Given the description of an element on the screen output the (x, y) to click on. 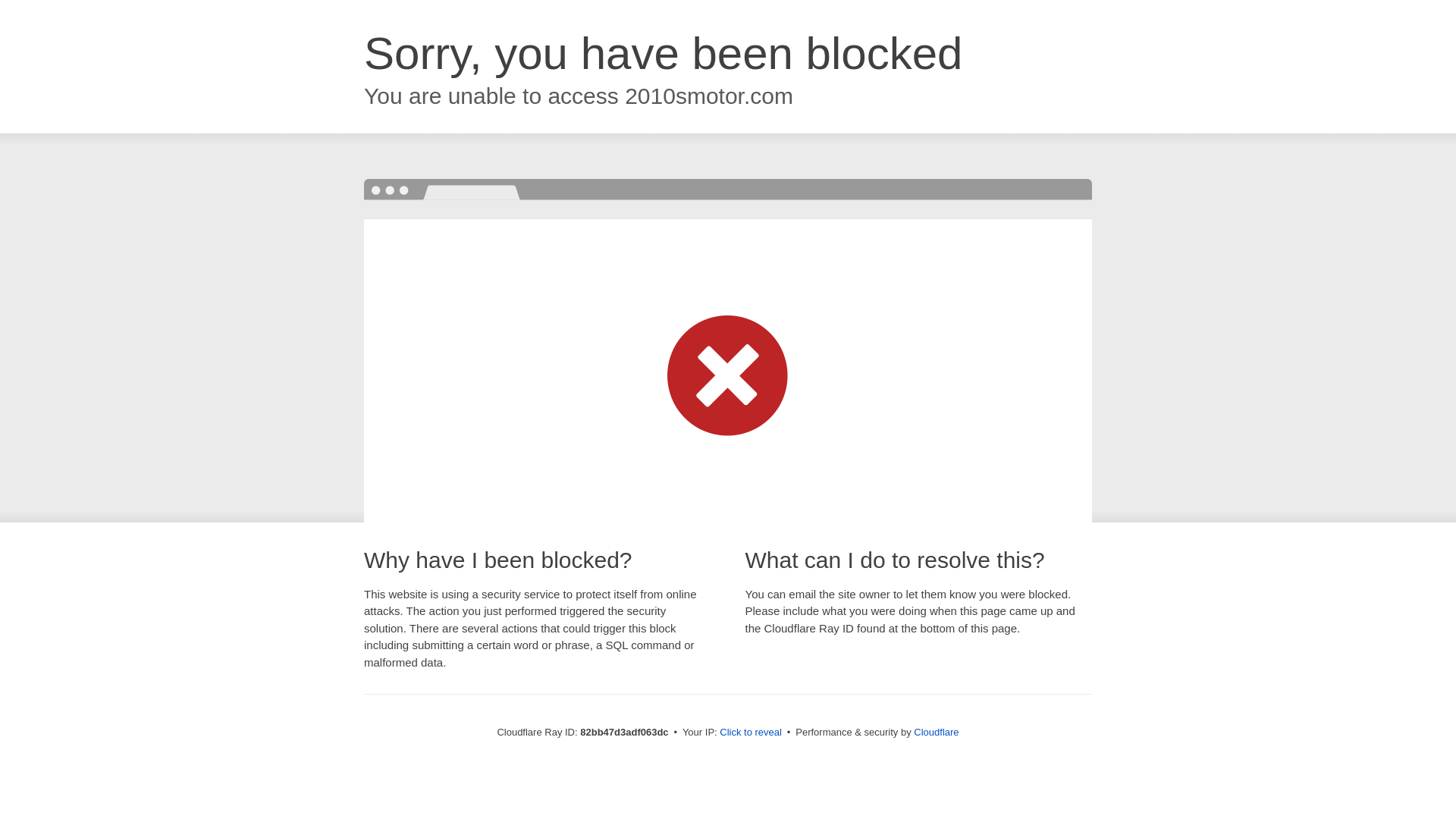
Click to reveal Element type: text (750, 732)
Cloudflare Element type: text (935, 731)
